Given the description of an element on the screen output the (x, y) to click on. 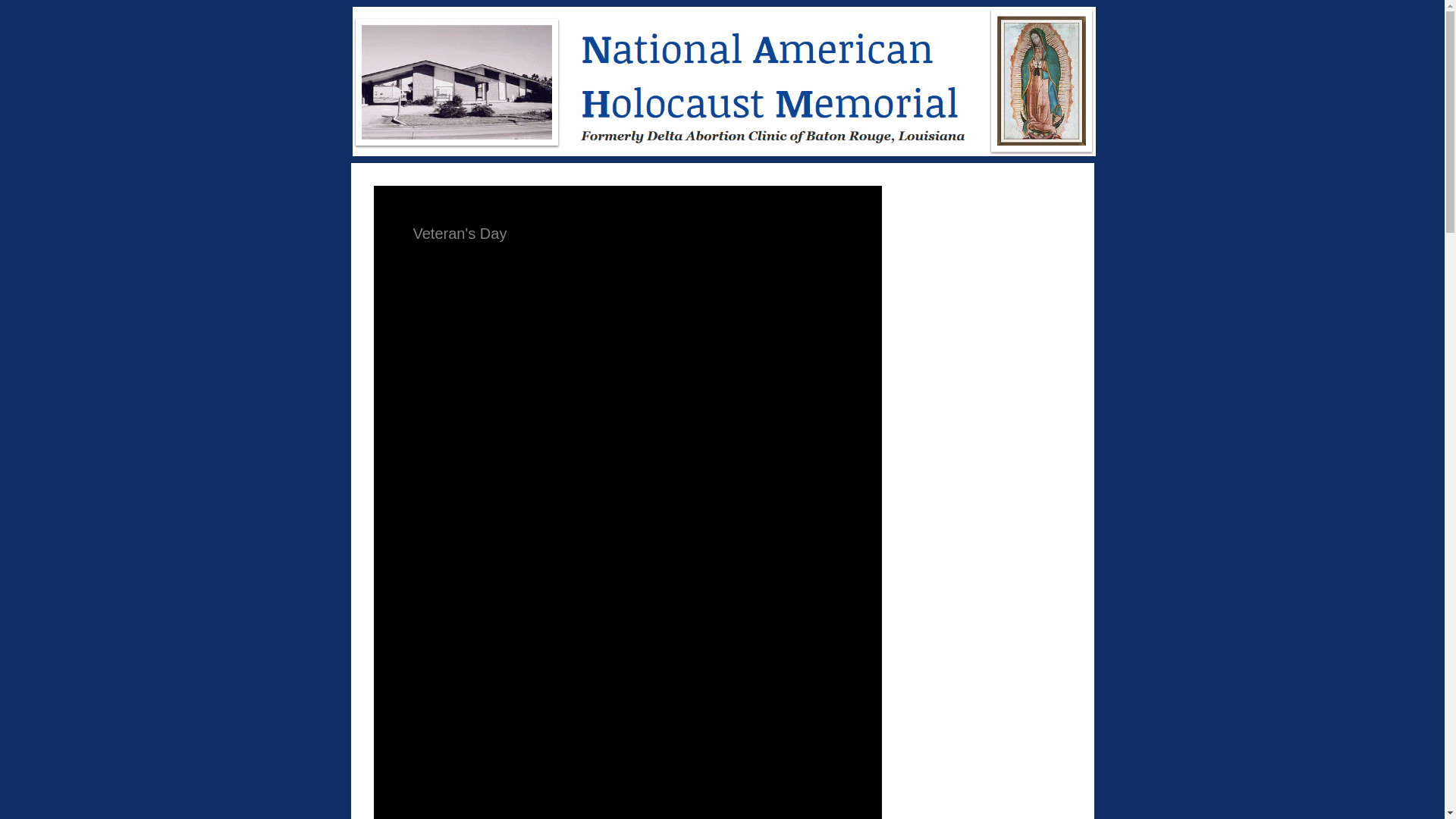
MEMORIAL HOME (723, 81)
